Given the description of an element on the screen output the (x, y) to click on. 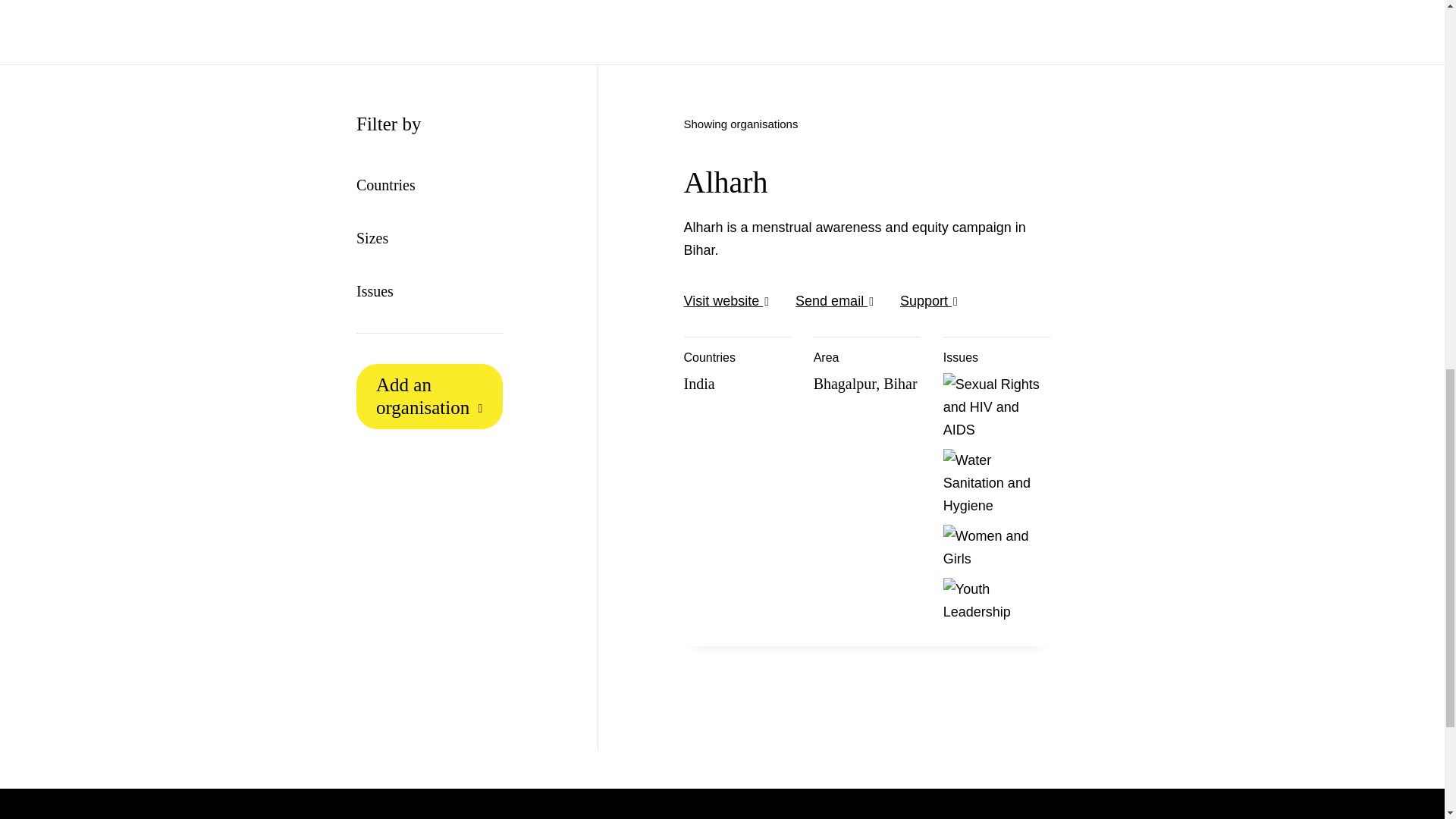
Water Sanitation and Hygiene (994, 482)
Women and Girls (994, 547)
Support (925, 300)
Sexual Rights and HIV and AIDS (994, 407)
Visit website (723, 300)
Send email (830, 300)
Add an organisation (429, 396)
Youth Leadership (994, 600)
